Given the description of an element on the screen output the (x, y) to click on. 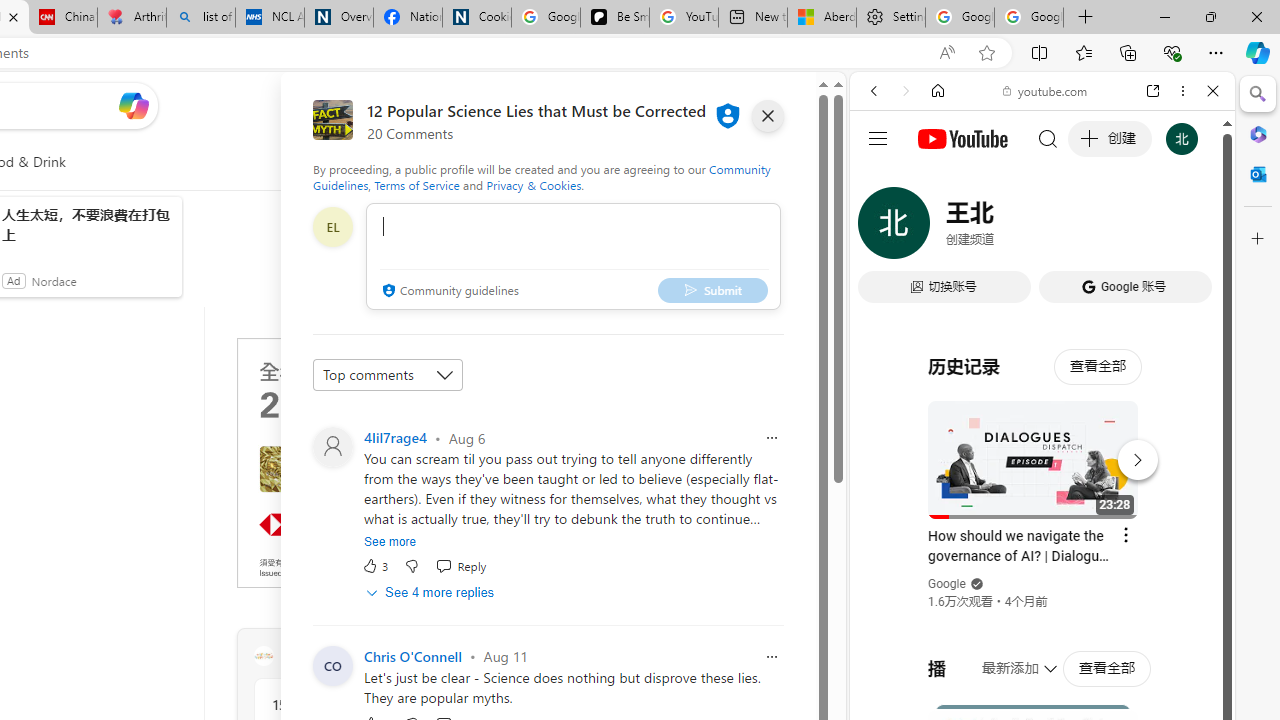
Music (1042, 543)
Chris O'Connell (412, 655)
Community Guidelines (541, 176)
WEB   (882, 228)
Search Filter, Search Tools (1093, 228)
Submit (712, 290)
3 Like (375, 565)
